Given the description of an element on the screen output the (x, y) to click on. 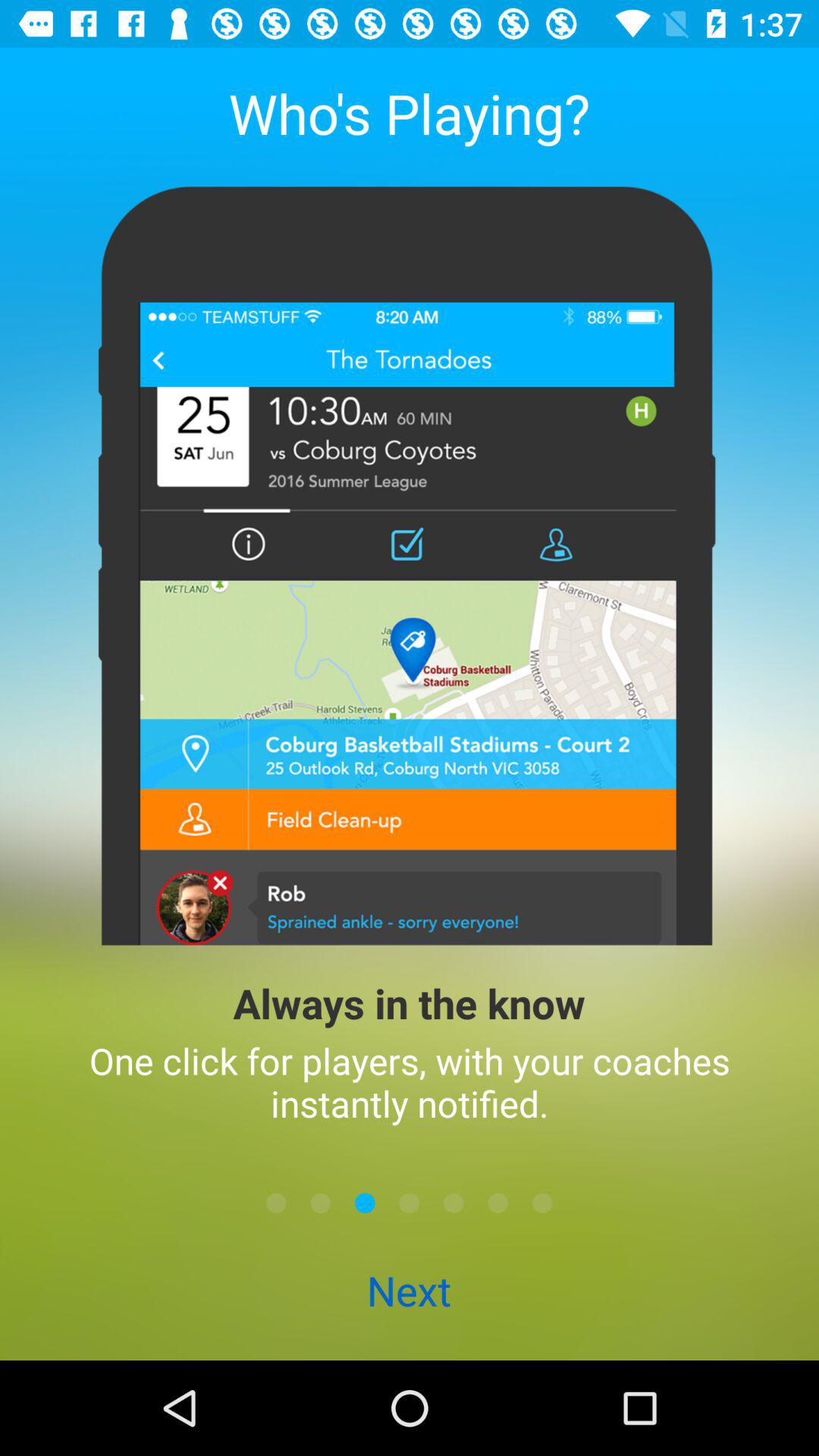
go to next screen (542, 1203)
